Given the description of an element on the screen output the (x, y) to click on. 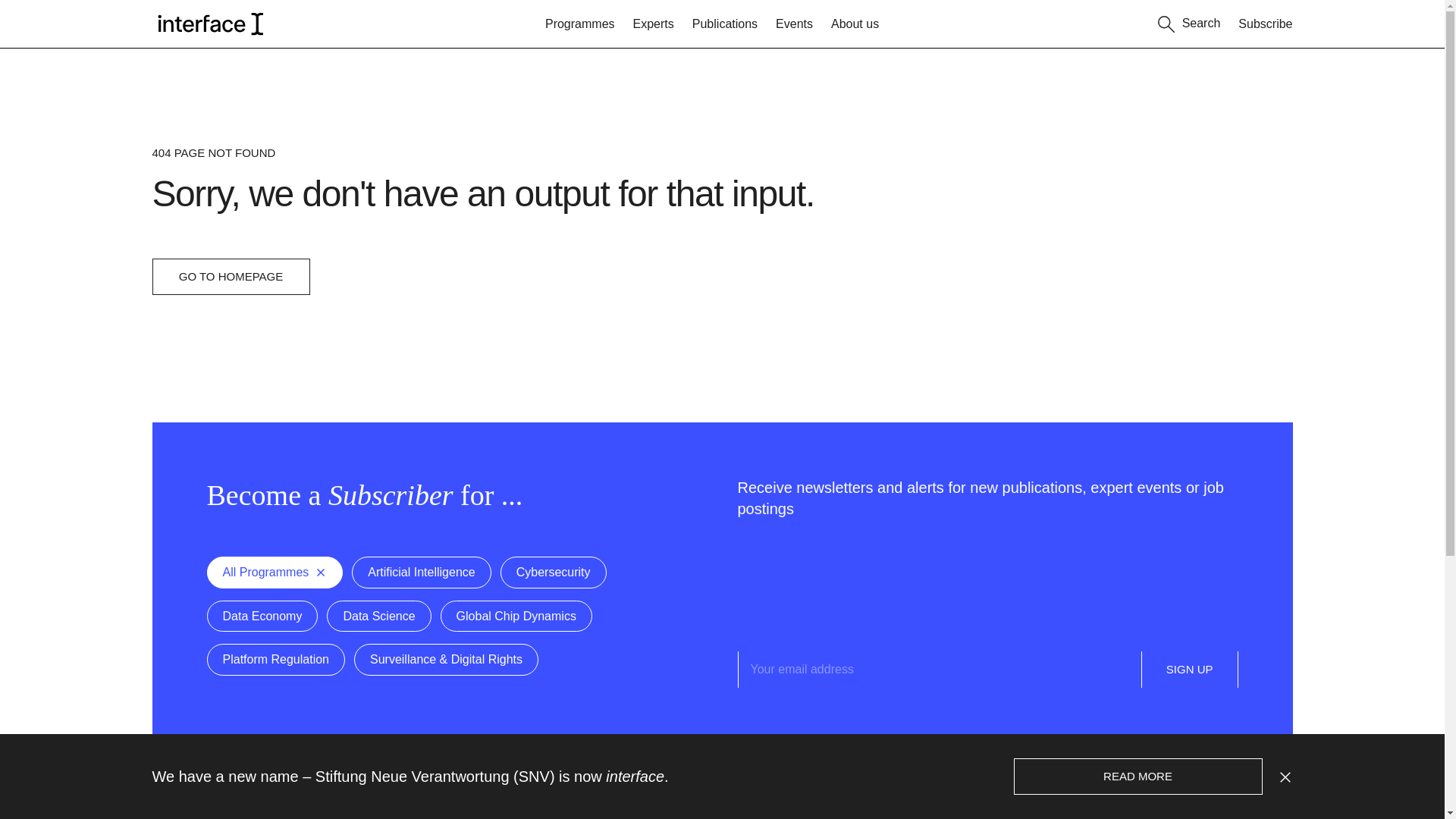
GO TO HOMEPAGE (229, 276)
Search (1189, 21)
About us (855, 24)
Programmes (579, 24)
READ MORE (1137, 776)
Subscribe (1265, 24)
Events (794, 24)
Publications (725, 24)
Experts (653, 24)
SIGN UP (1190, 669)
